Given the description of an element on the screen output the (x, y) to click on. 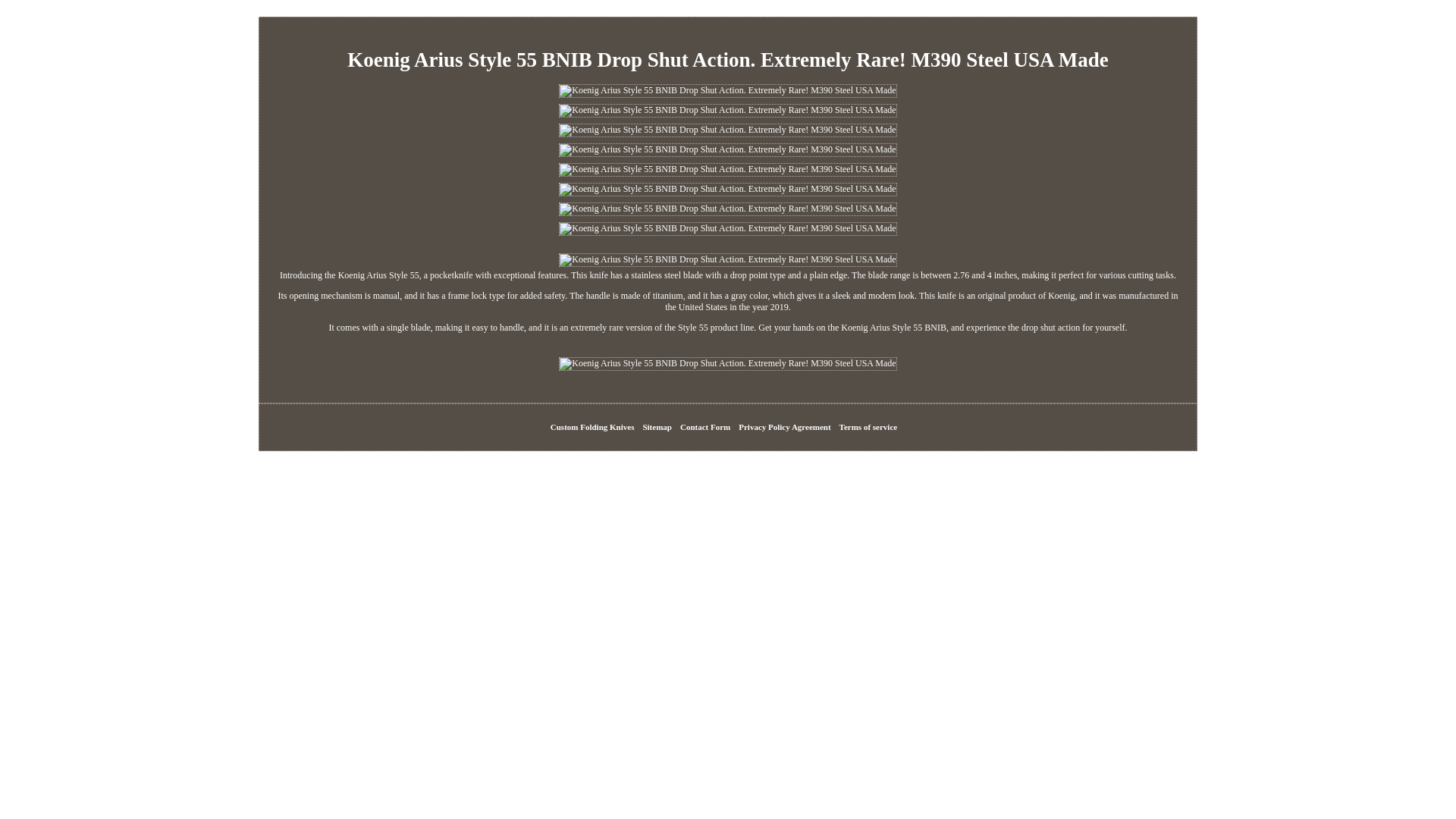
Custom Folding Knives (592, 426)
Contact Form (704, 426)
Sitemap (656, 426)
Privacy Policy Agreement (783, 426)
Terms of service (869, 426)
